Given the description of an element on the screen output the (x, y) to click on. 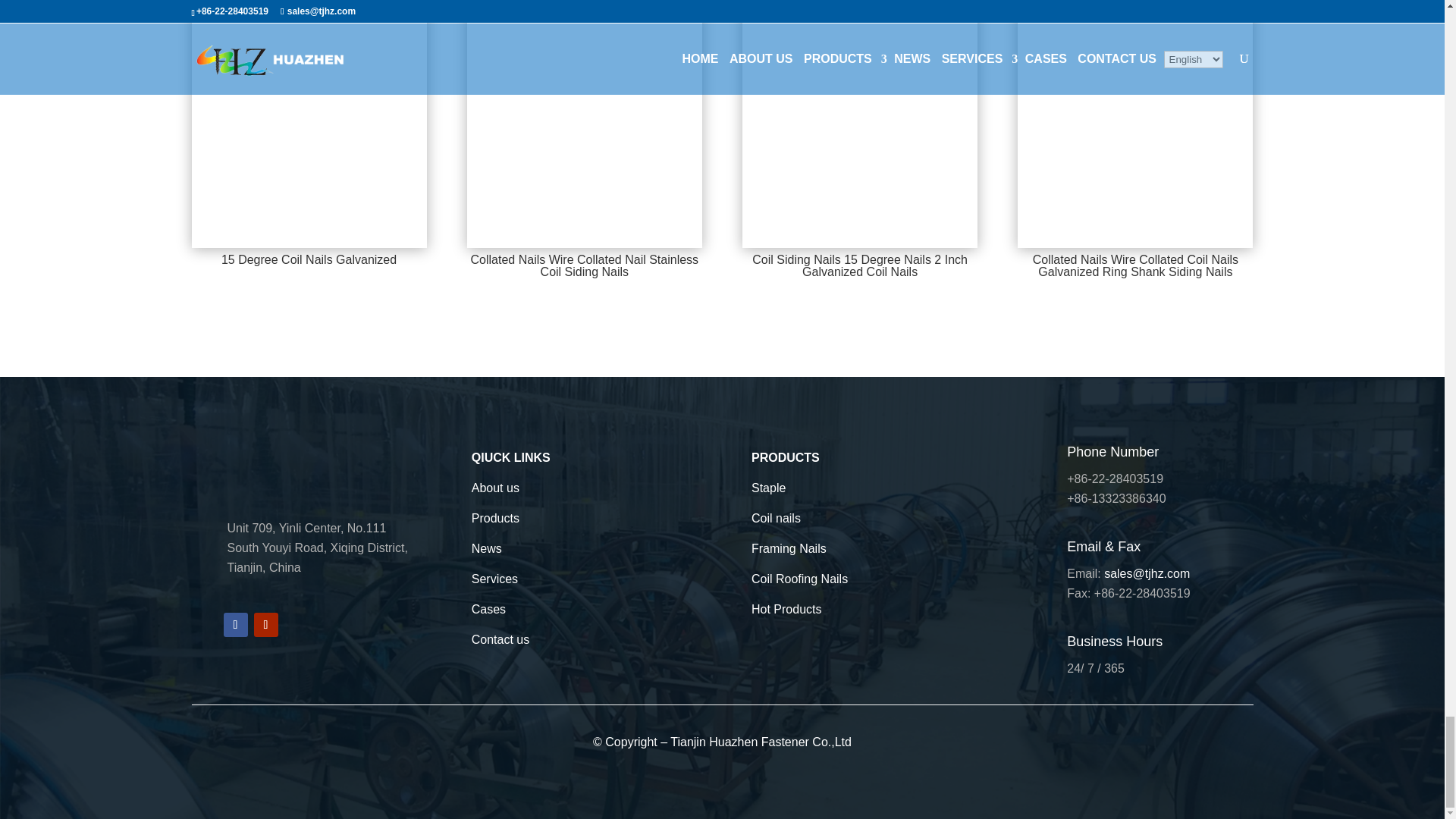
logo (242, 466)
Follow on Facebook (234, 624)
Follow on Youtube (265, 624)
